Given the description of an element on the screen output the (x, y) to click on. 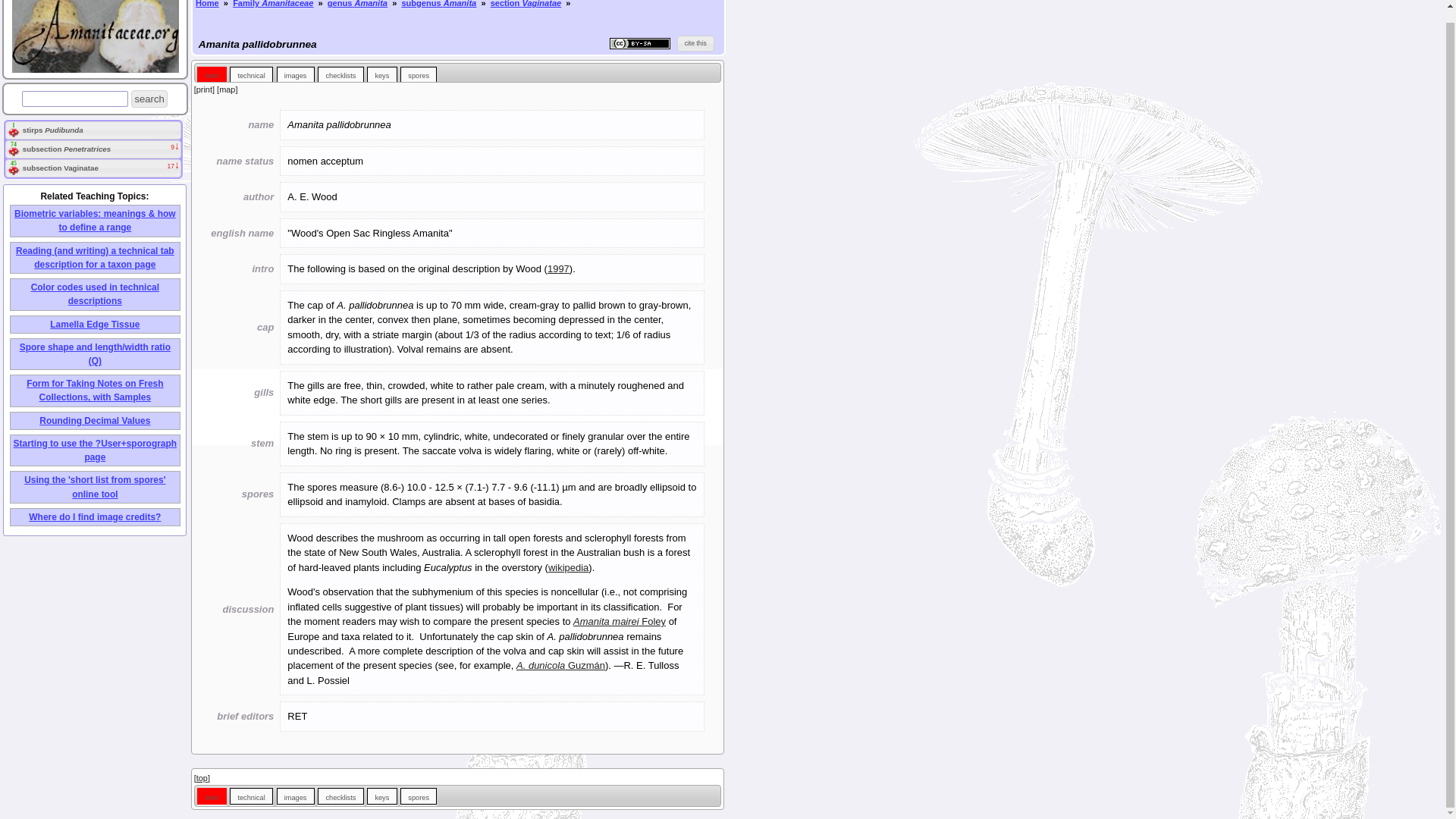
Where do I find image credits? (94, 516)
brief (210, 73)
Keys that contain this taxon (381, 795)
A detailed, technical description of this taxon (251, 795)
map (226, 89)
Spores as observed in specific material examined. (418, 73)
Amanita mairei Foley (619, 621)
technical (251, 73)
Checklists that contain this taxon (339, 795)
